Given the description of an element on the screen output the (x, y) to click on. 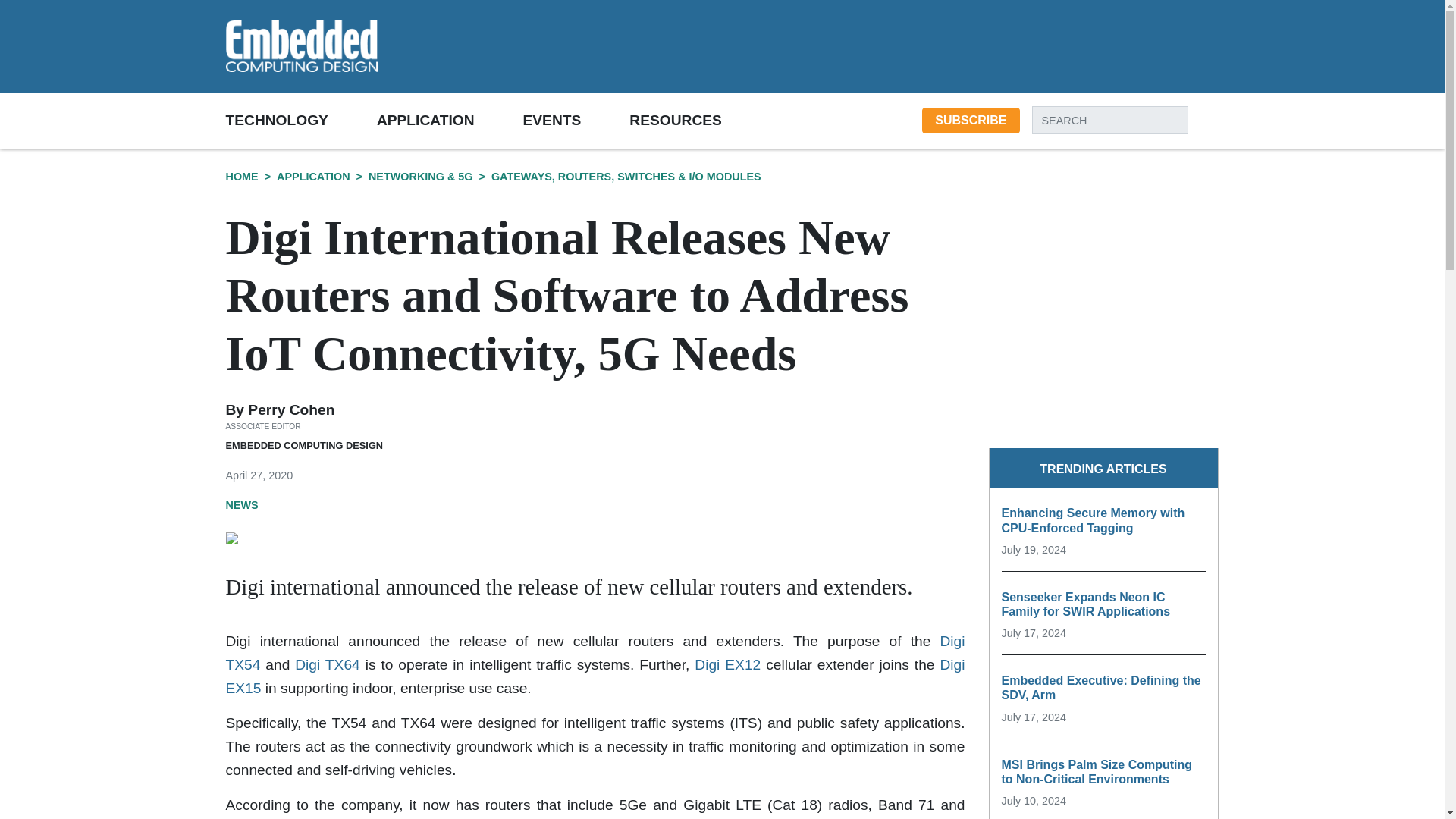
APPLICATION (449, 120)
RESOURCES (699, 120)
TECHNOLOGY (301, 120)
EVENTS (576, 120)
